Given the description of an element on the screen output the (x, y) to click on. 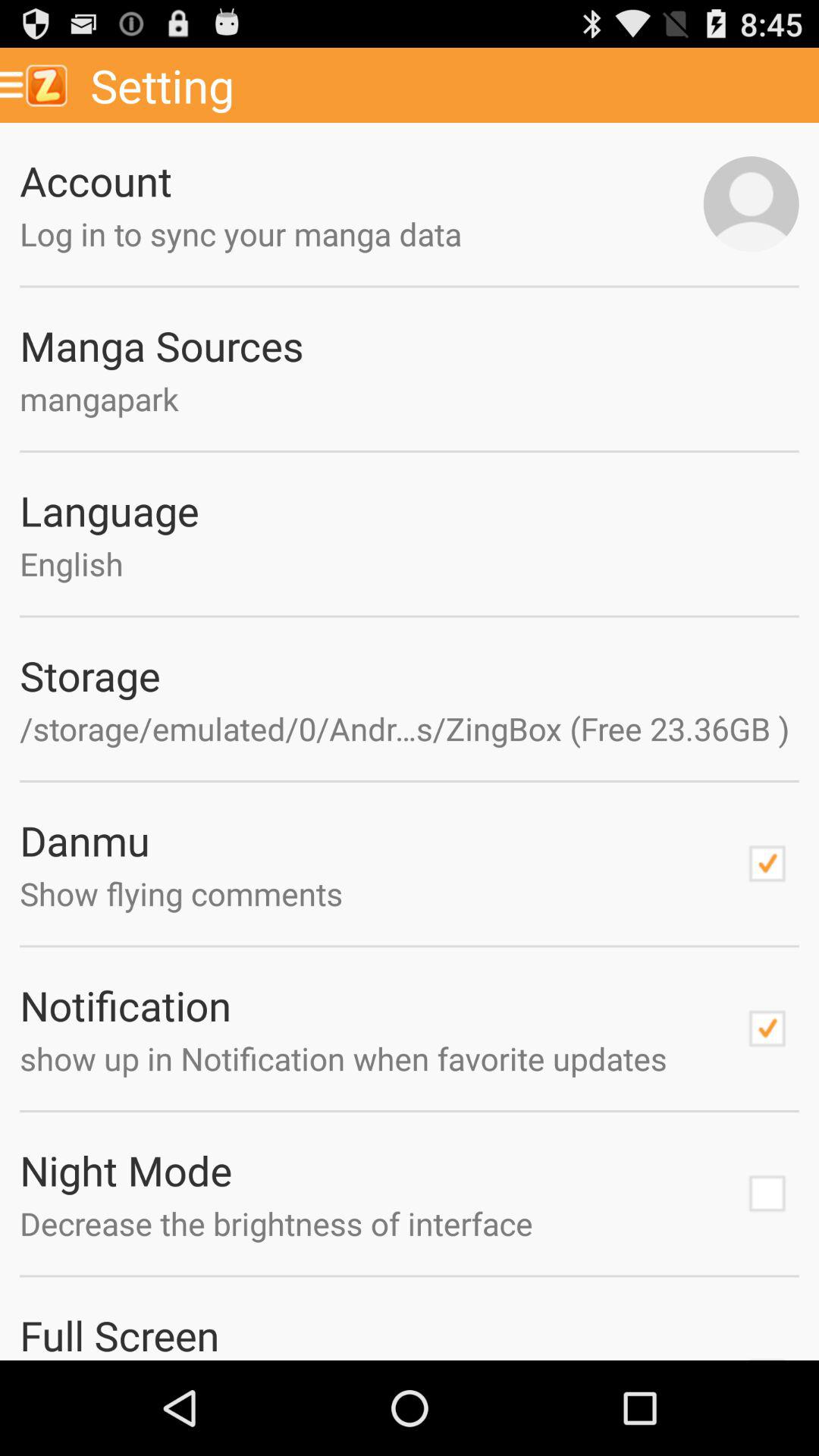
flip to storage emulated 0 item (409, 728)
